Given the description of an element on the screen output the (x, y) to click on. 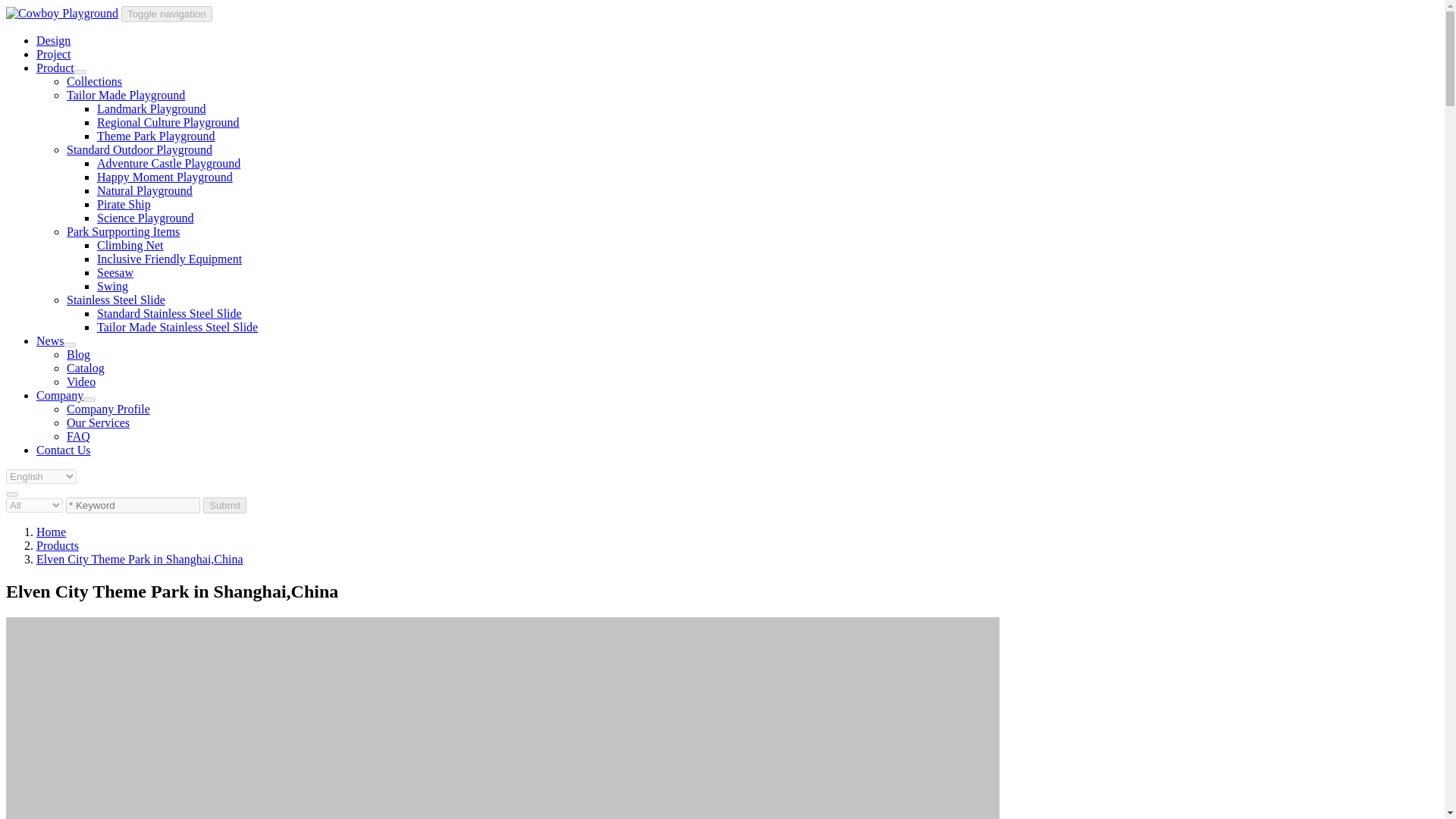
Submit (224, 505)
Tailor Made Playground (125, 94)
Regional Culture Playground (168, 122)
FAQ (78, 436)
Inclusive Friendly Equipment (169, 258)
Project (52, 53)
Theme Park Playground (156, 135)
Toggle navigation (166, 13)
Contact Us (63, 449)
Company (59, 395)
